Given the description of an element on the screen output the (x, y) to click on. 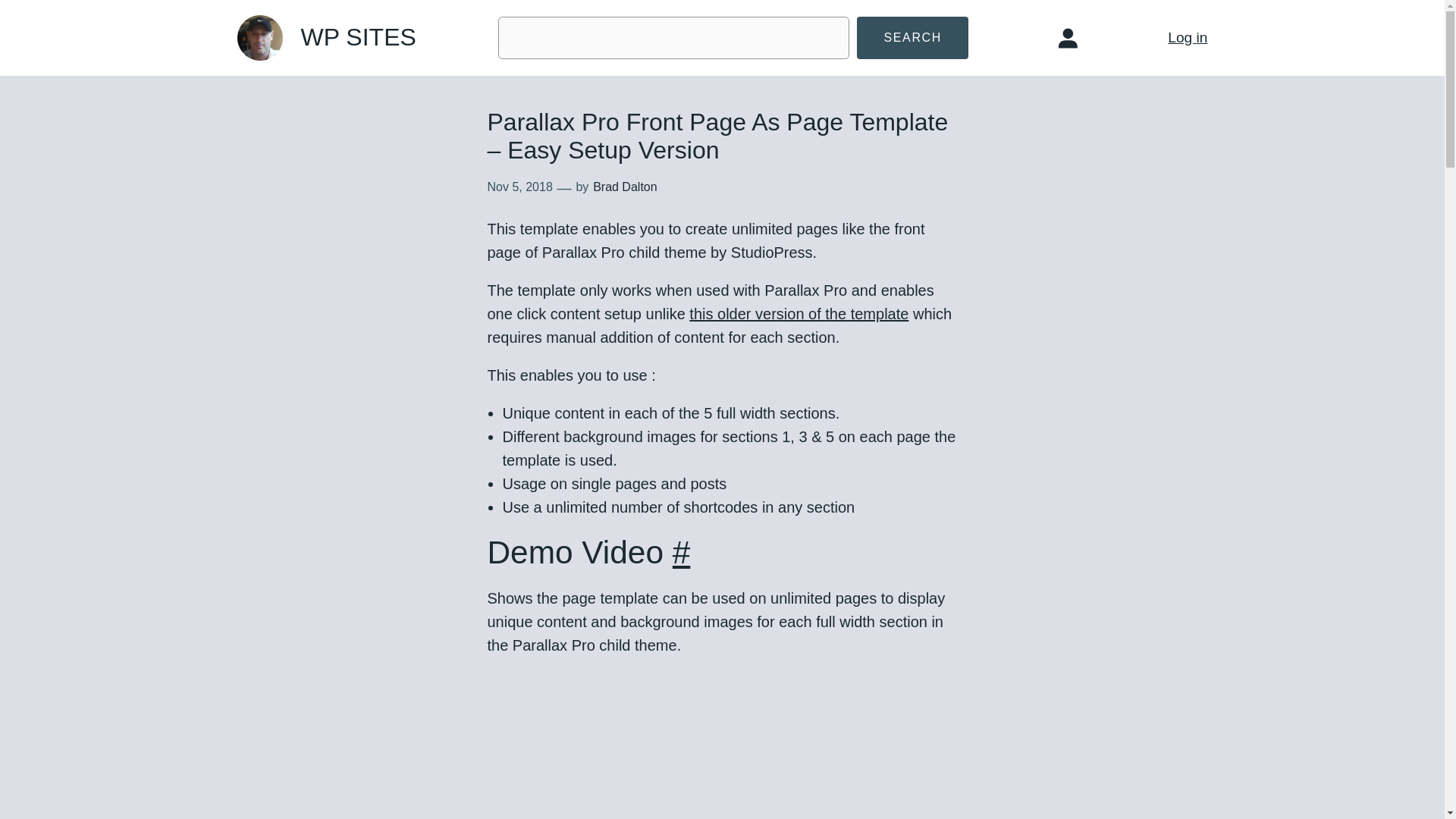
this older version of the template (798, 313)
Nov 5, 2018 (518, 186)
WP SITES (356, 36)
Log in (1187, 37)
SEARCH (912, 37)
Brad Dalton (625, 186)
